Given the description of an element on the screen output the (x, y) to click on. 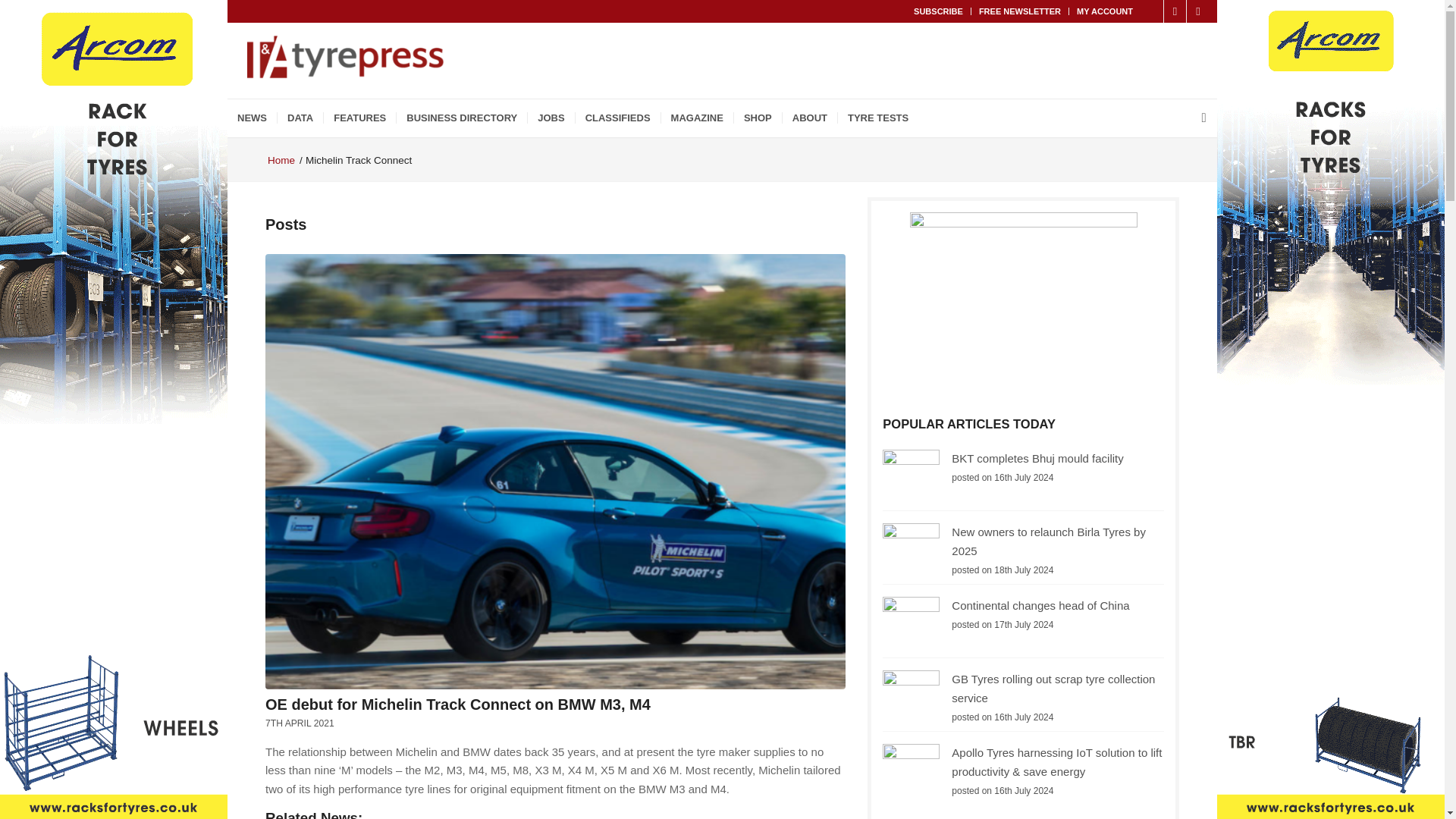
DATA (299, 118)
SUBSCRIBE (938, 11)
FREE NEWSLETTER (1019, 11)
JOBS (550, 118)
Business Directory (461, 118)
NEWS (251, 118)
X (1152, 11)
Facebook (1174, 11)
BUSINESS DIRECTORY (461, 118)
MY ACCOUNT (1104, 11)
Tyrepress (280, 160)
FEATURES (359, 118)
Instagram (1197, 11)
